Given the description of an element on the screen output the (x, y) to click on. 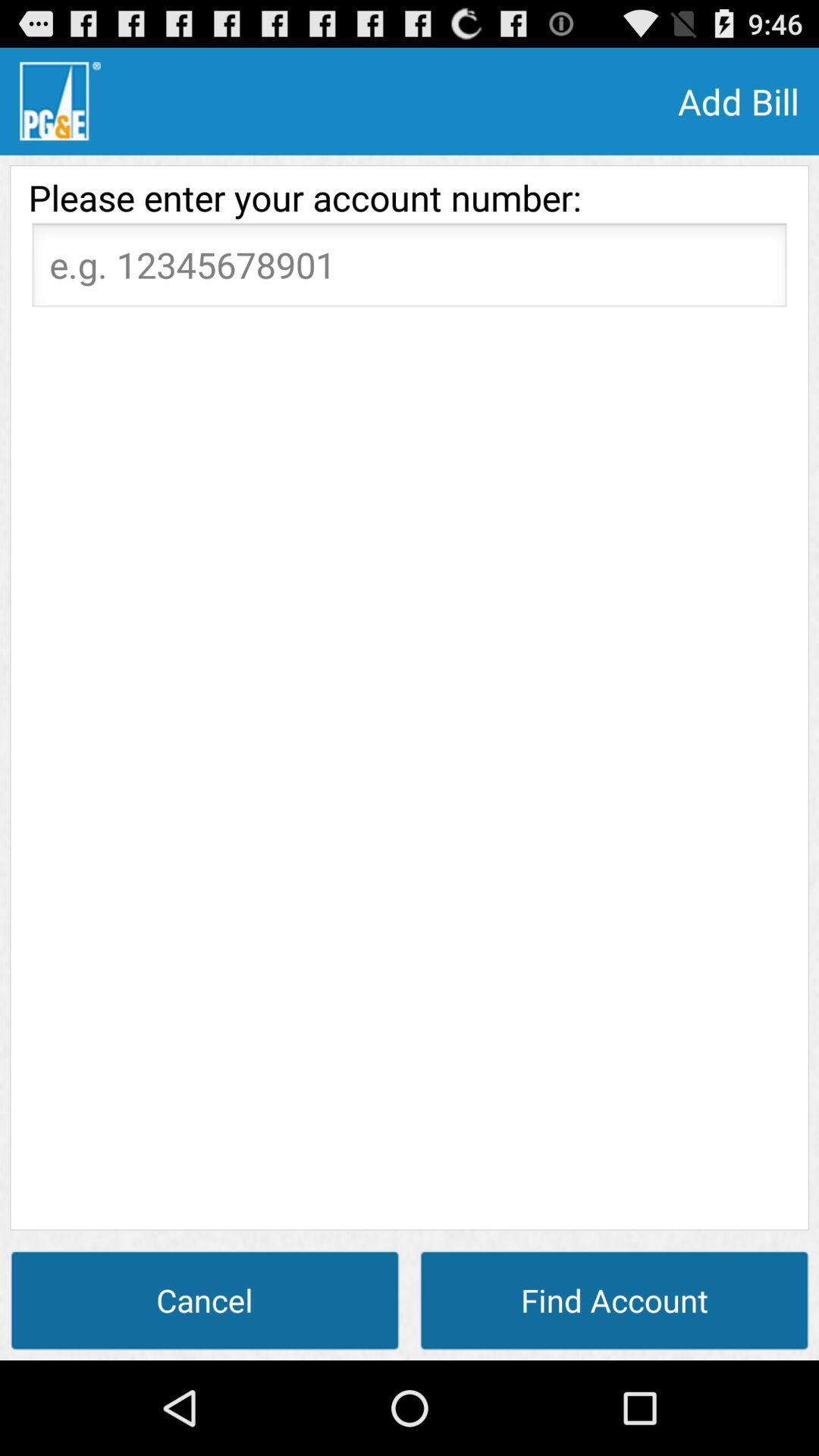
turn off the item next to the add bill icon (59, 100)
